Given the description of an element on the screen output the (x, y) to click on. 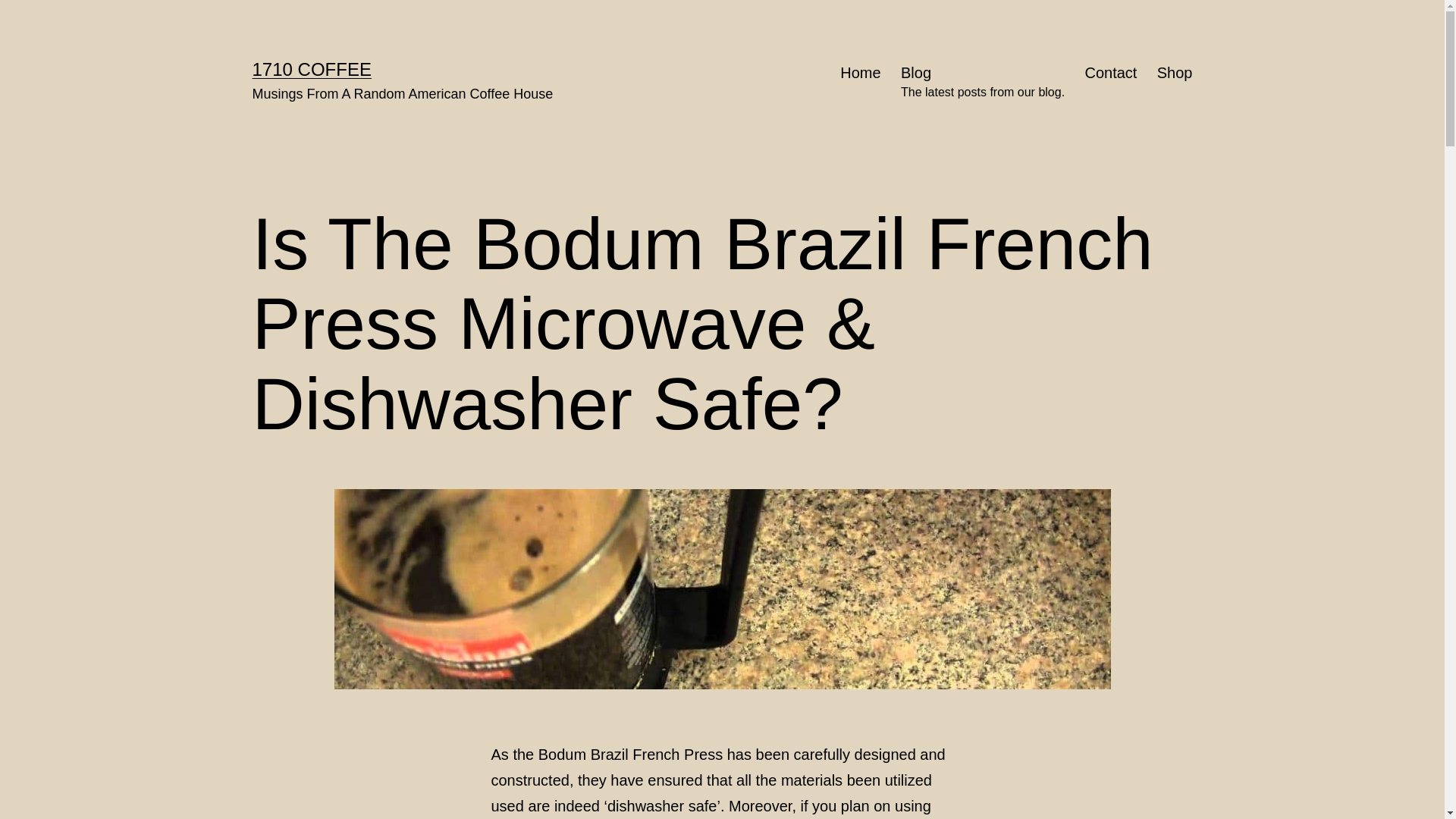
Home Element type: text (860, 83)
1710 COFFEE Element type: text (310, 69)
Contact Element type: text (1110, 83)
Shop Element type: text (1174, 83)
Blog
The latest posts from our blog. Element type: text (982, 83)
